Given the description of an element on the screen output the (x, y) to click on. 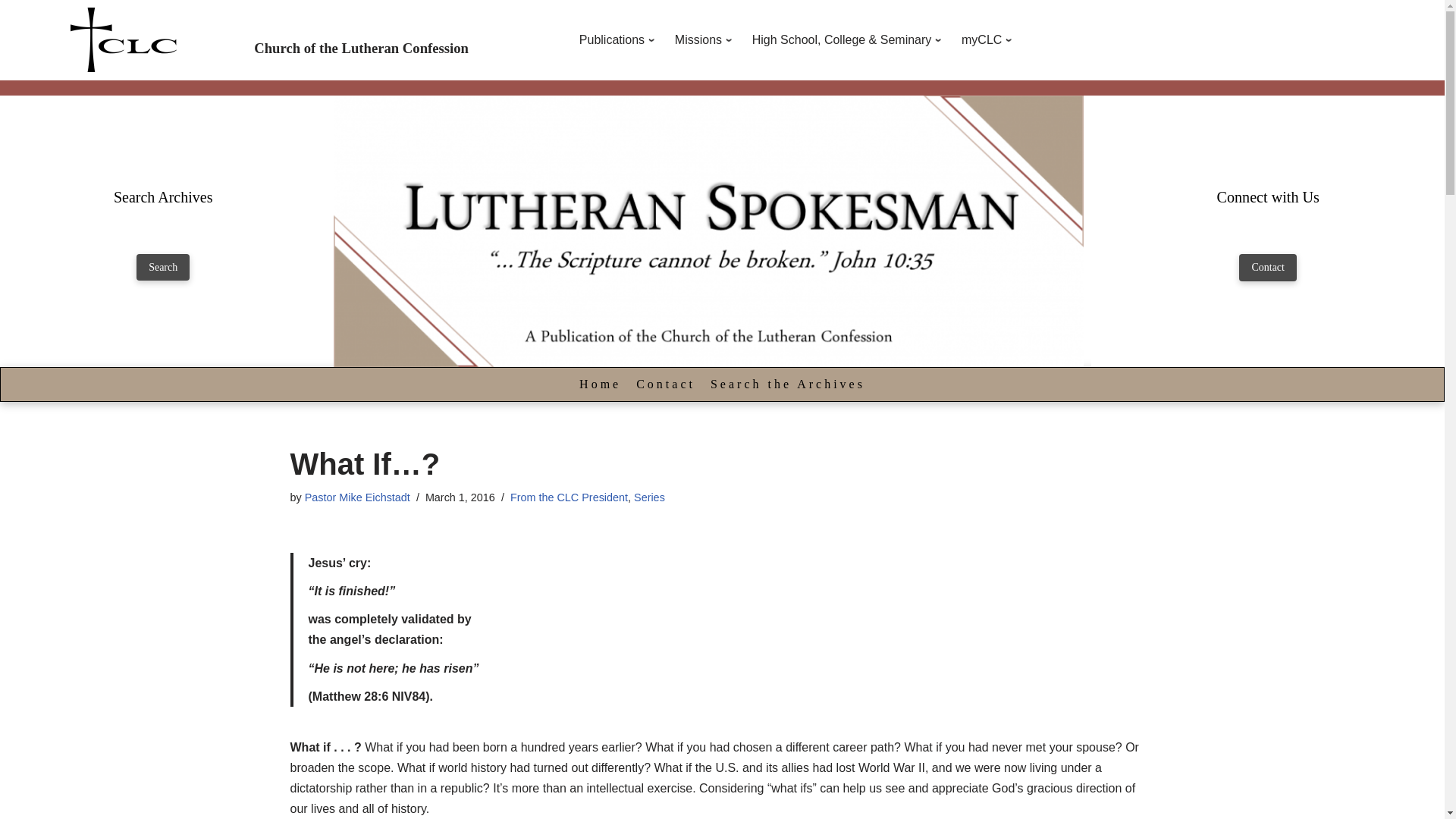
Search the Archives (787, 384)
Search (162, 267)
Series (649, 497)
Contact (1268, 267)
Contact (664, 384)
From the CLC President (569, 497)
myCLC (989, 40)
Publications (619, 40)
Missions (706, 40)
